Given the description of an element on the screen output the (x, y) to click on. 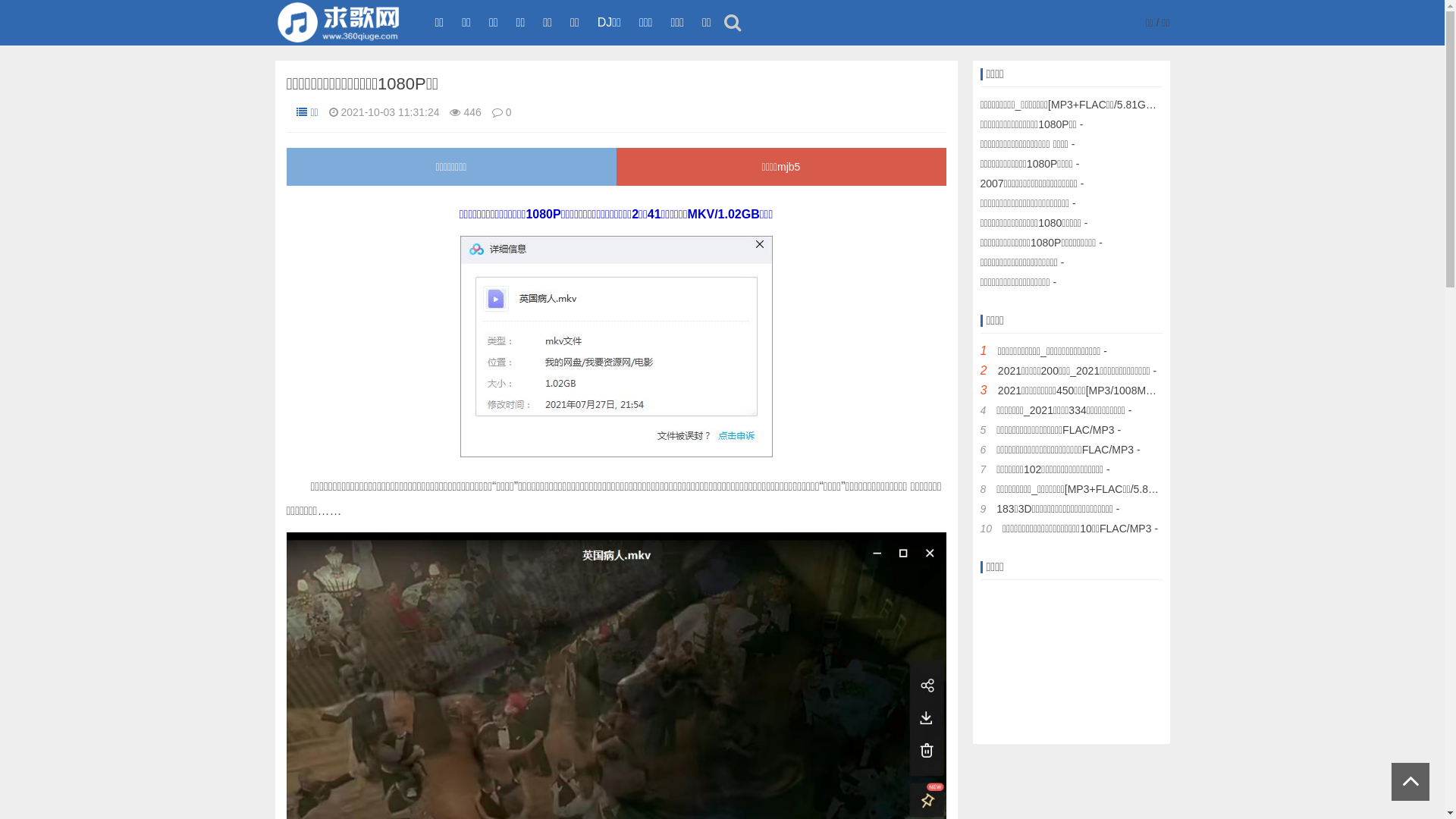
By2 Element type: text (1062, 667)
